Given the description of an element on the screen output the (x, y) to click on. 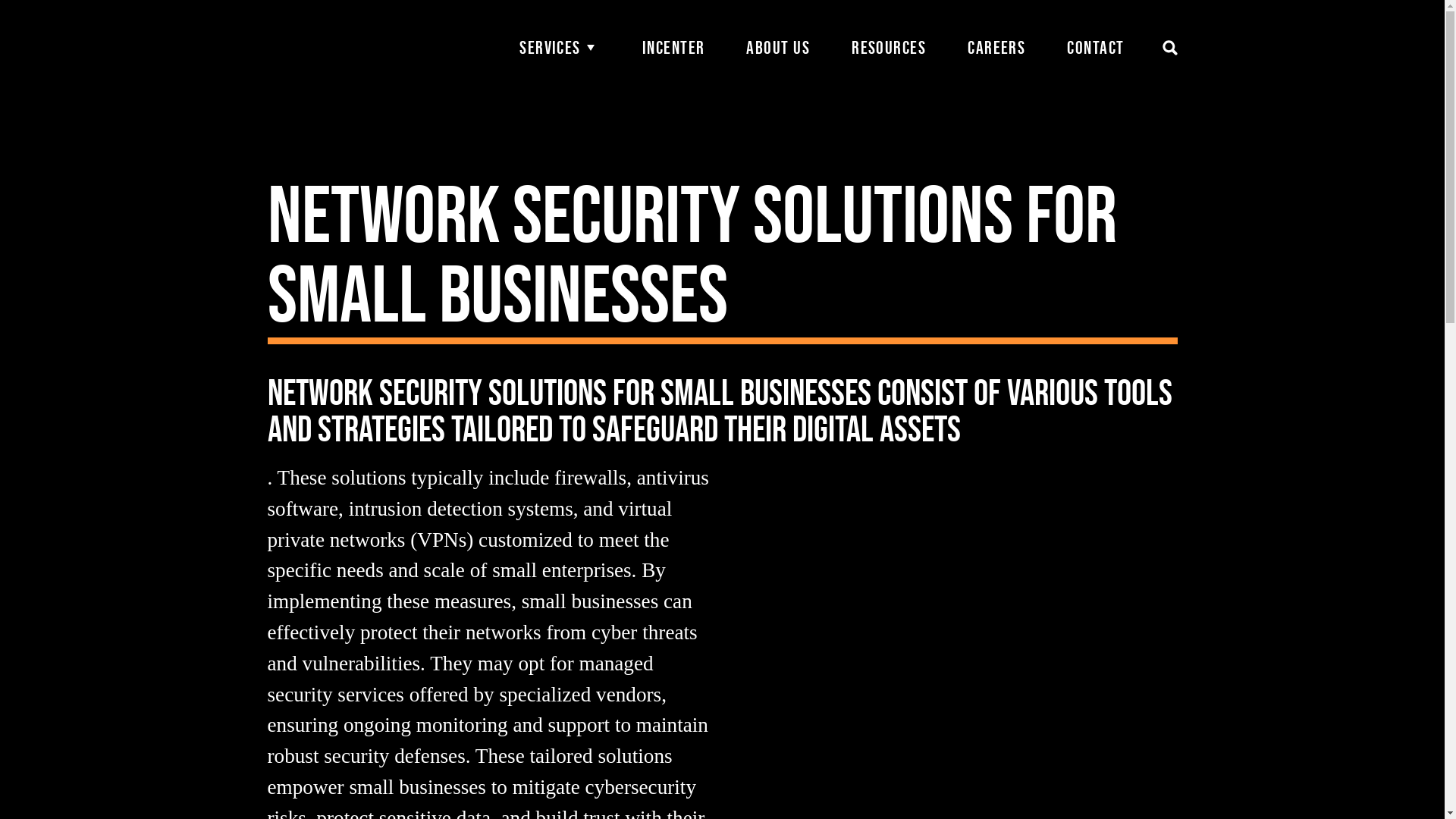
Incenter (673, 48)
Contact (1095, 48)
Resources (888, 48)
Careers (996, 48)
Services (559, 48)
About us (777, 48)
